Given the description of an element on the screen output the (x, y) to click on. 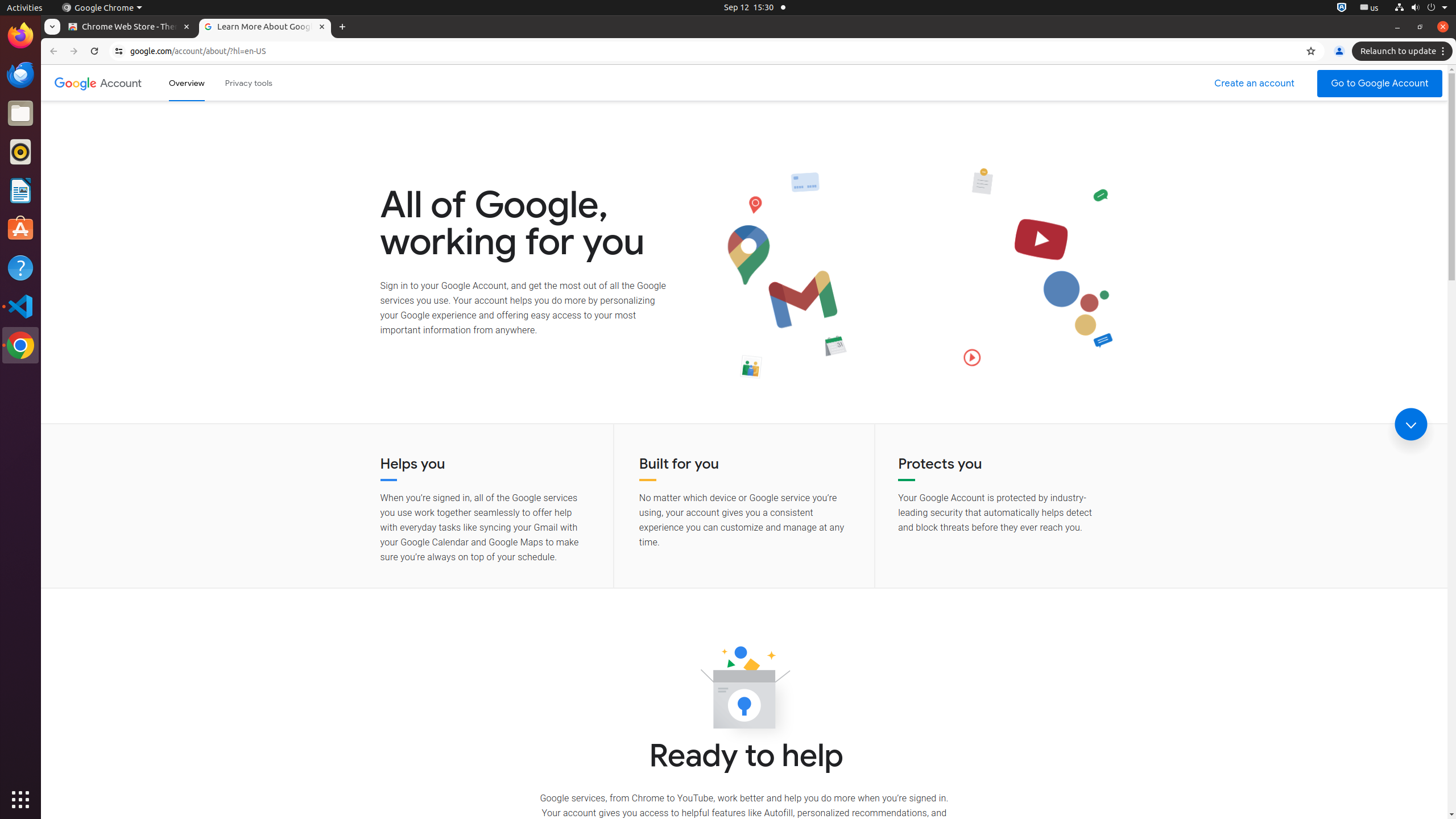
Learn More About Google's Secure and Protected Accounts - Google Element type: page-tab (264, 26)
Google logo Element type: link (75, 82)
:1.21/StatusNotifierItem Element type: menu (1369, 7)
Thunderbird Mail Element type: push-button (20, 74)
Show Applications Element type: toggle-button (20, 799)
